Given the description of an element on the screen output the (x, y) to click on. 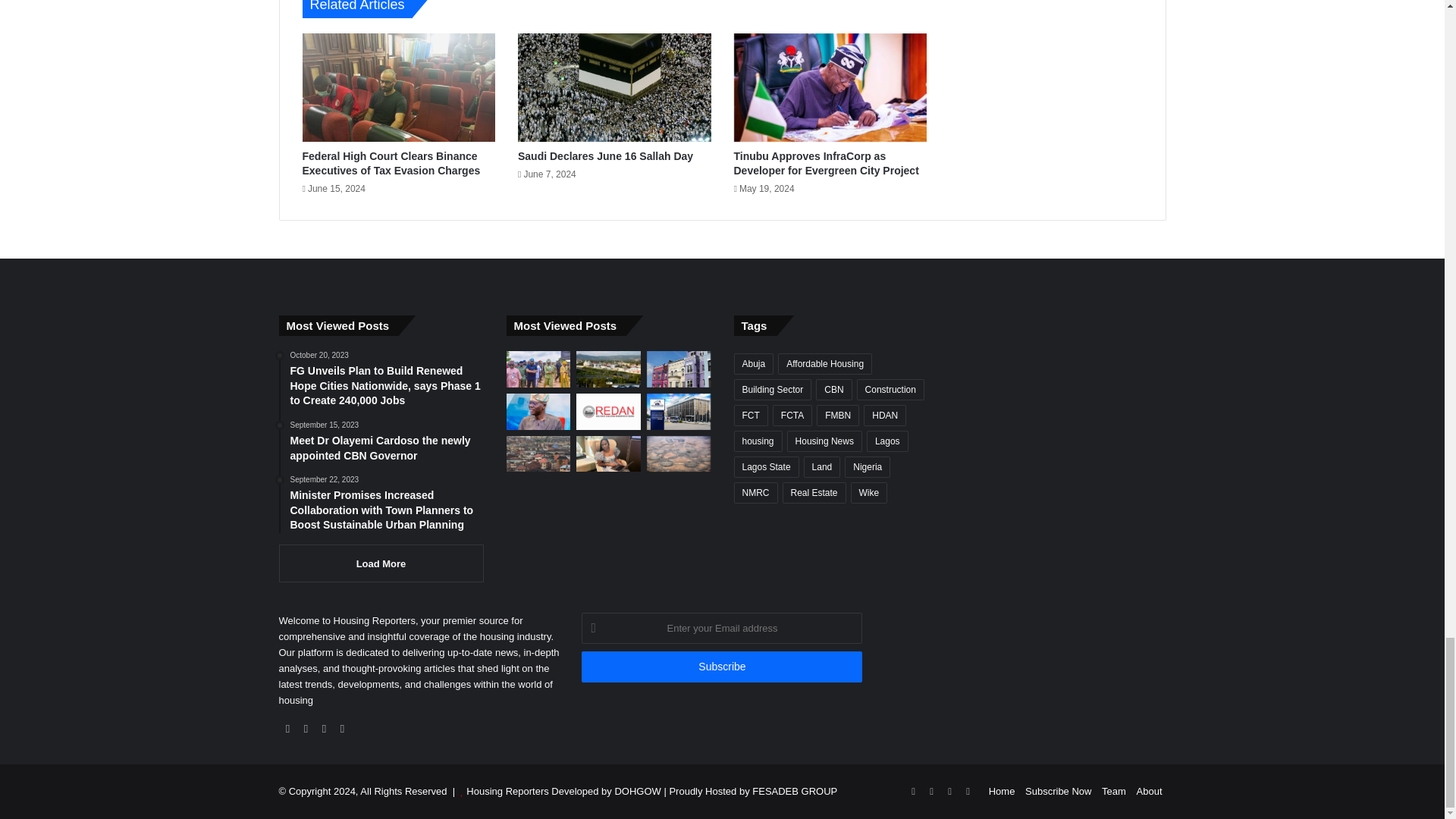
Subscribe (720, 666)
